Given the description of an element on the screen output the (x, y) to click on. 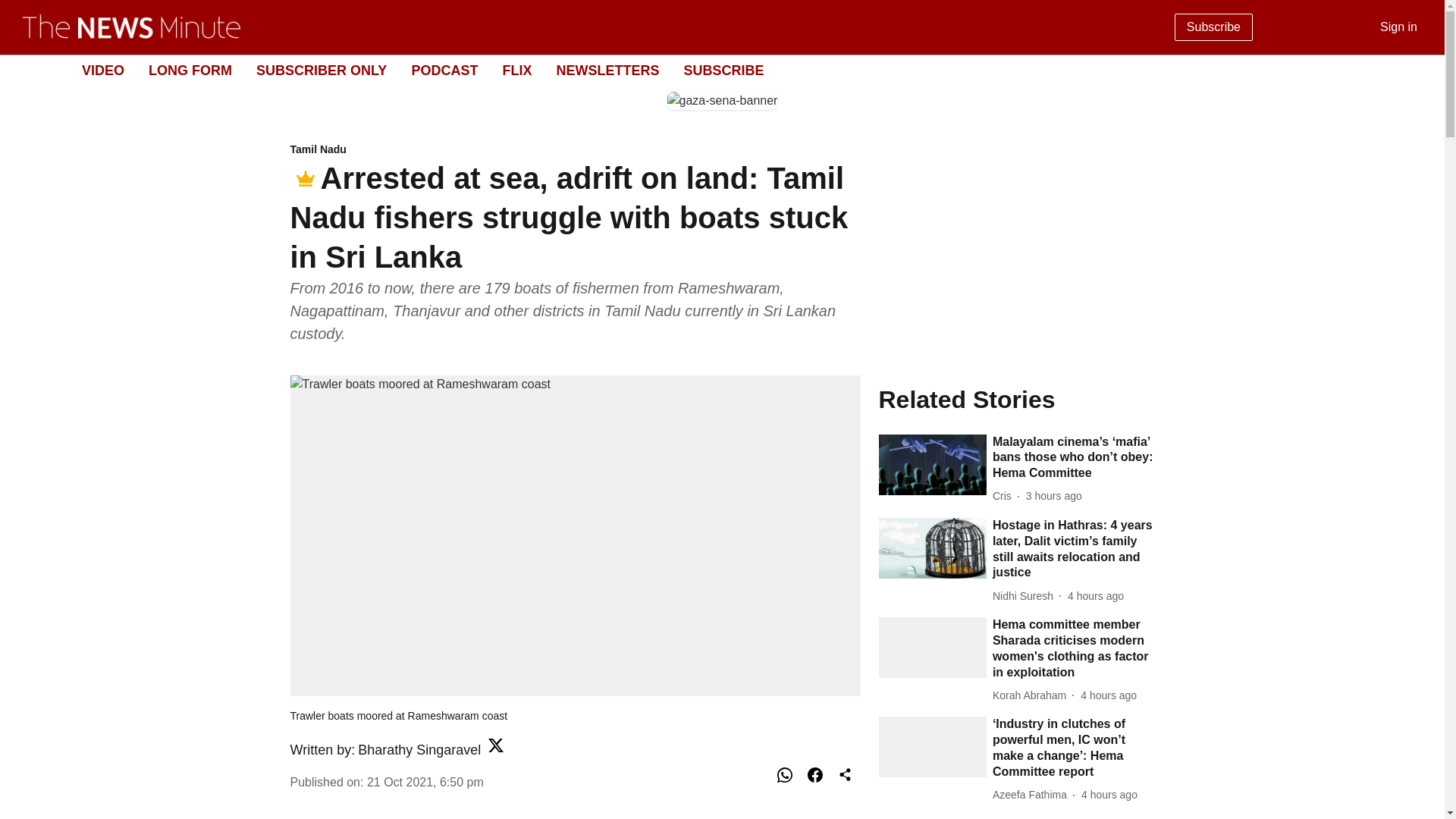
2021-10-21 10:50 (424, 780)
FLIX (516, 70)
2024-08-19 13:20 (1109, 795)
SUBSCRIBER ONLY (321, 70)
Dark Mode (1415, 70)
Cris (1004, 496)
Related Stories (1015, 398)
LONG FORM (189, 70)
NEWSLETTERS (607, 70)
SUBSCRIBE (722, 70)
